Given the description of an element on the screen output the (x, y) to click on. 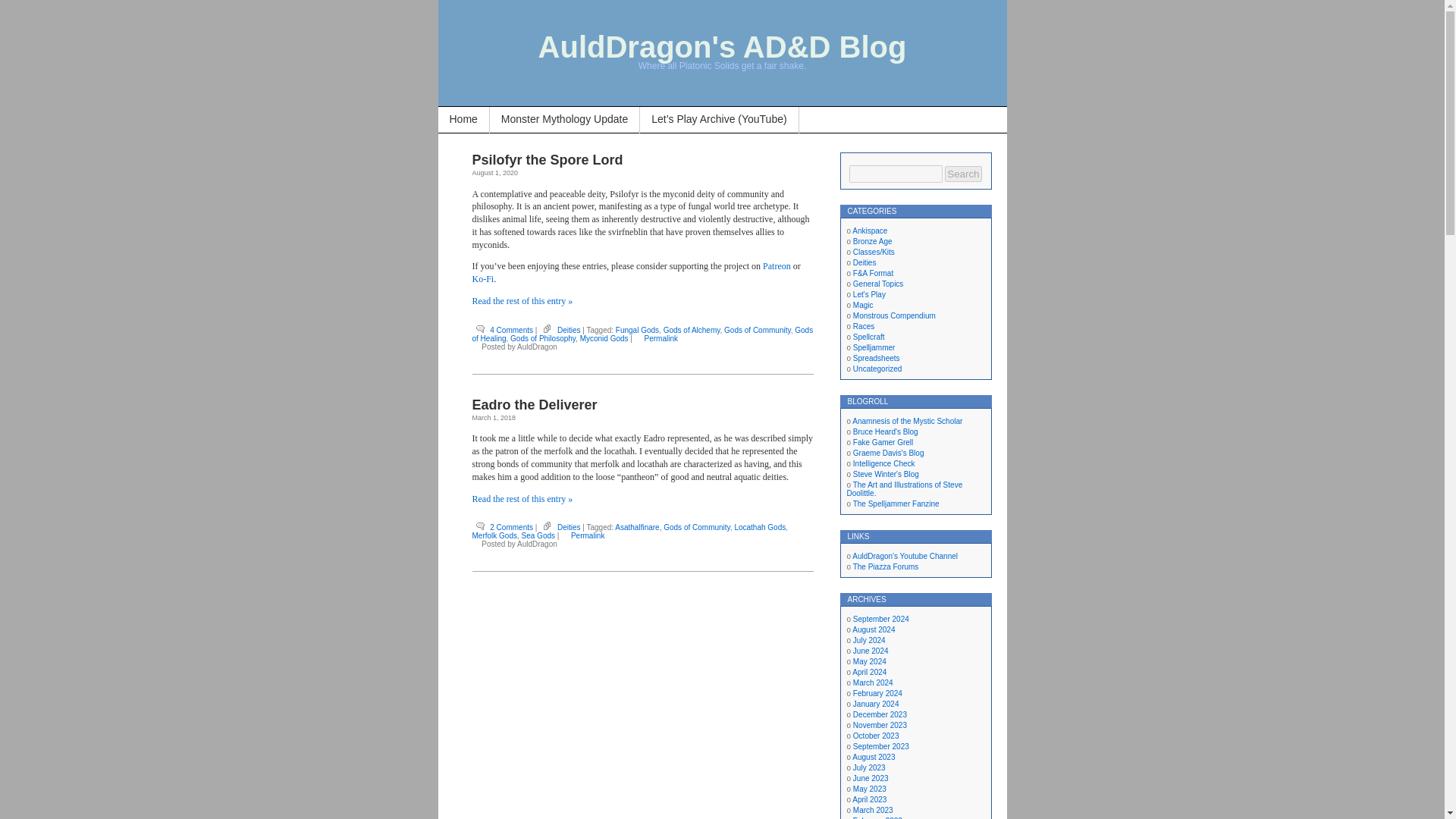
Gods of Community (696, 527)
Gods of Philosophy (543, 338)
Home (463, 120)
Psilofyr the Spore Lord (547, 159)
Search (962, 173)
Bronze Age (872, 241)
Gods of Alchemy (691, 329)
Spellcraft (869, 336)
Deities (568, 329)
